Given the description of an element on the screen output the (x, y) to click on. 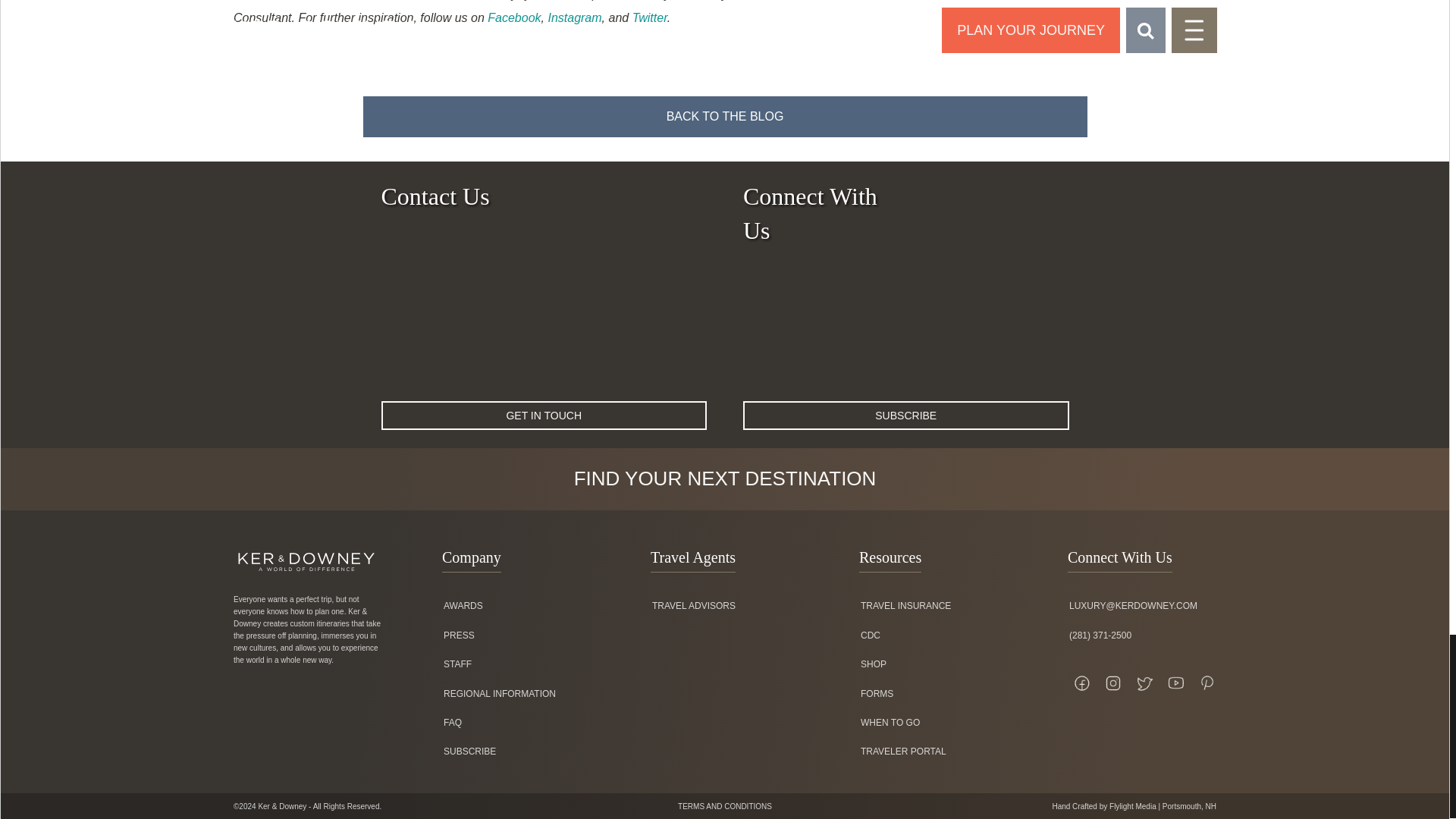
Blog (724, 116)
